Given the description of an element on the screen output the (x, y) to click on. 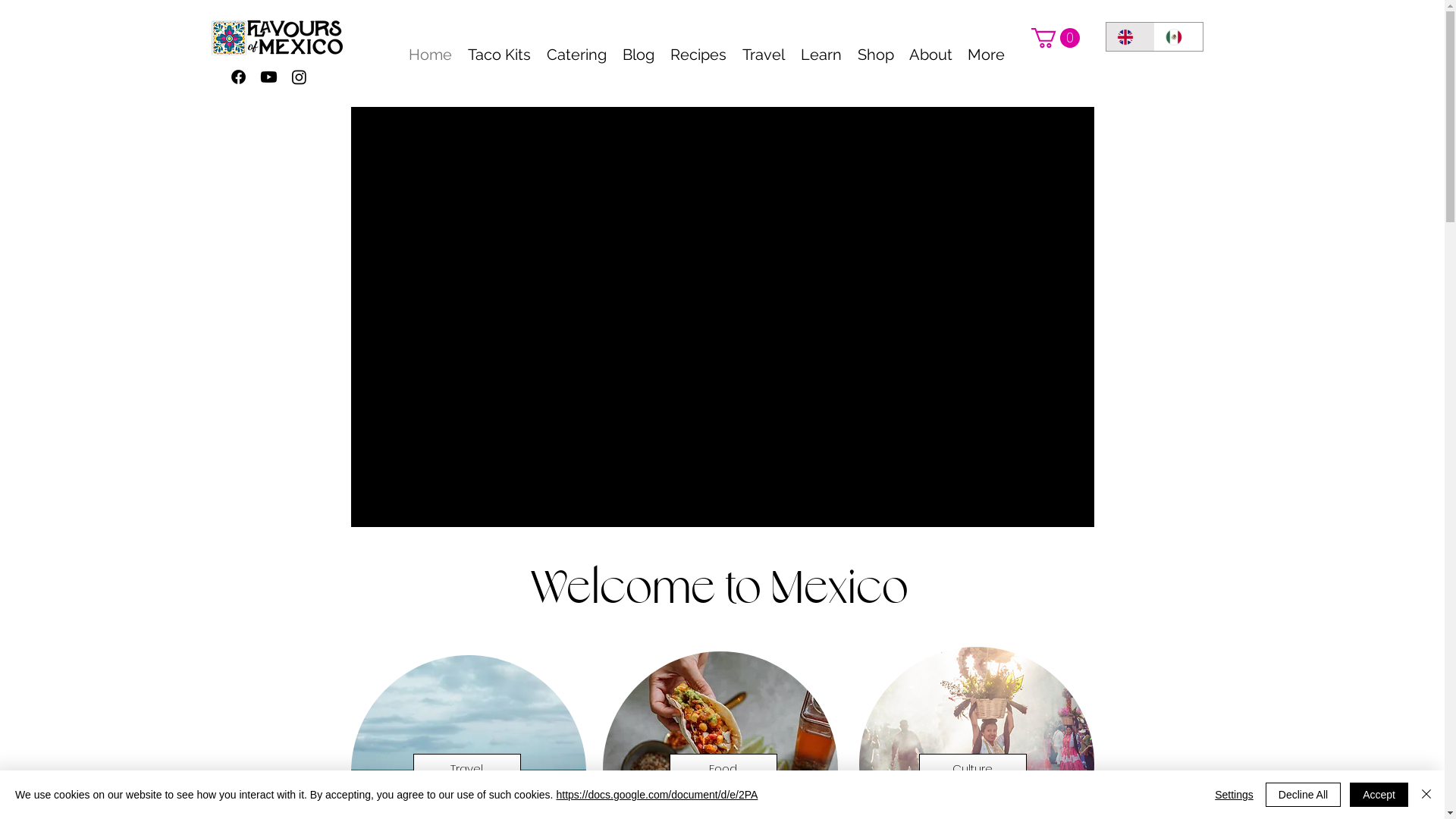
Recipes Element type: text (698, 54)
Catering Element type: text (576, 54)
Shop Element type: text (874, 54)
Taco Kits Element type: text (498, 54)
0 Element type: text (1055, 37)
https://docs.google.com/document/d/e/2PA Element type: text (656, 794)
Blog Element type: text (638, 54)
Decline All Element type: text (1302, 794)
About Element type: text (929, 54)
Accept Element type: text (1378, 794)
Travel Element type: text (466, 768)
Home Element type: text (429, 54)
Culture Element type: text (972, 768)
Travel Element type: text (763, 54)
Learn Element type: text (821, 54)
Food Element type: text (722, 768)
